Given the description of an element on the screen output the (x, y) to click on. 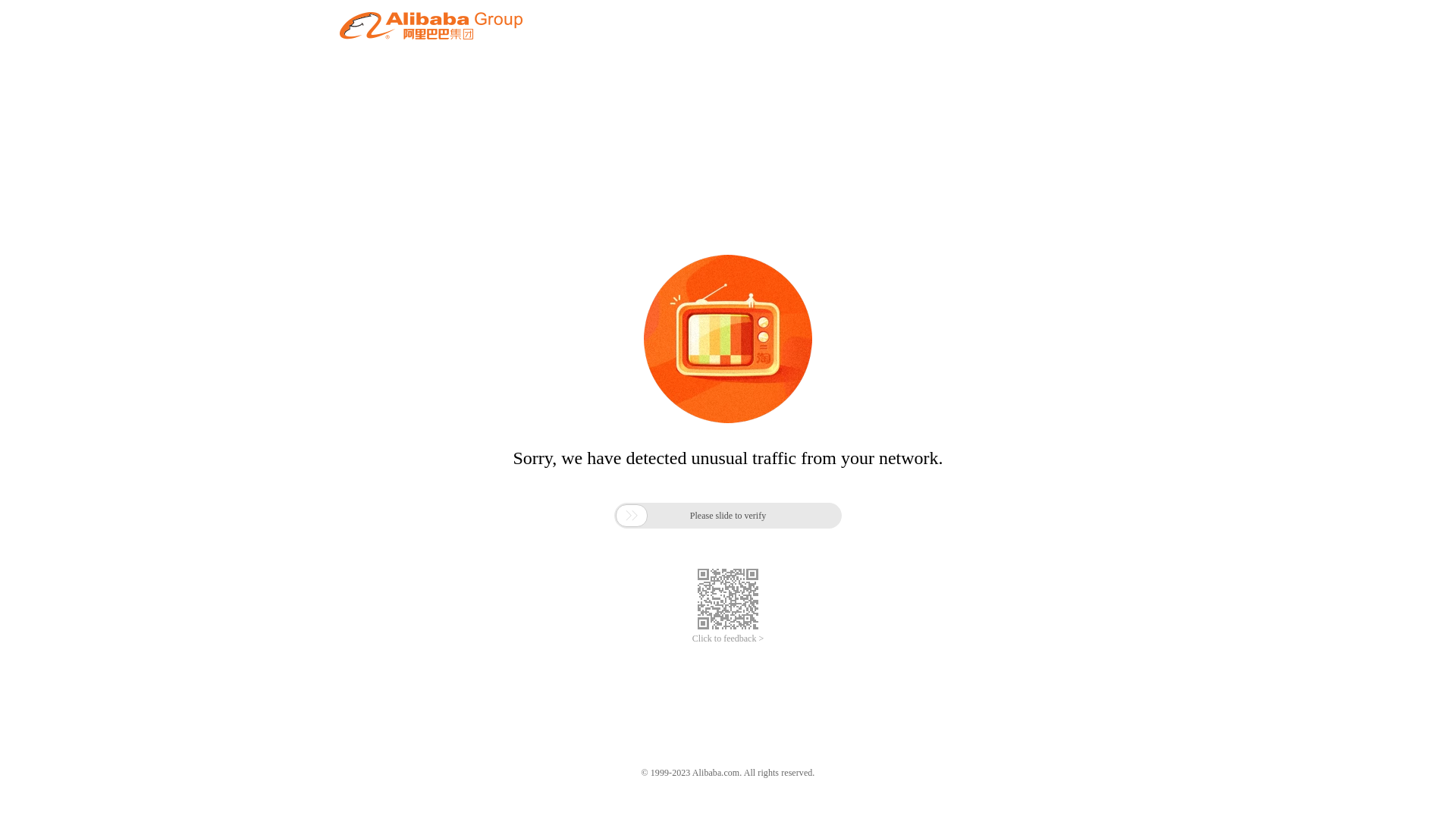
Click to feedback > Element type: text (727, 638)
